Given the description of an element on the screen output the (x, y) to click on. 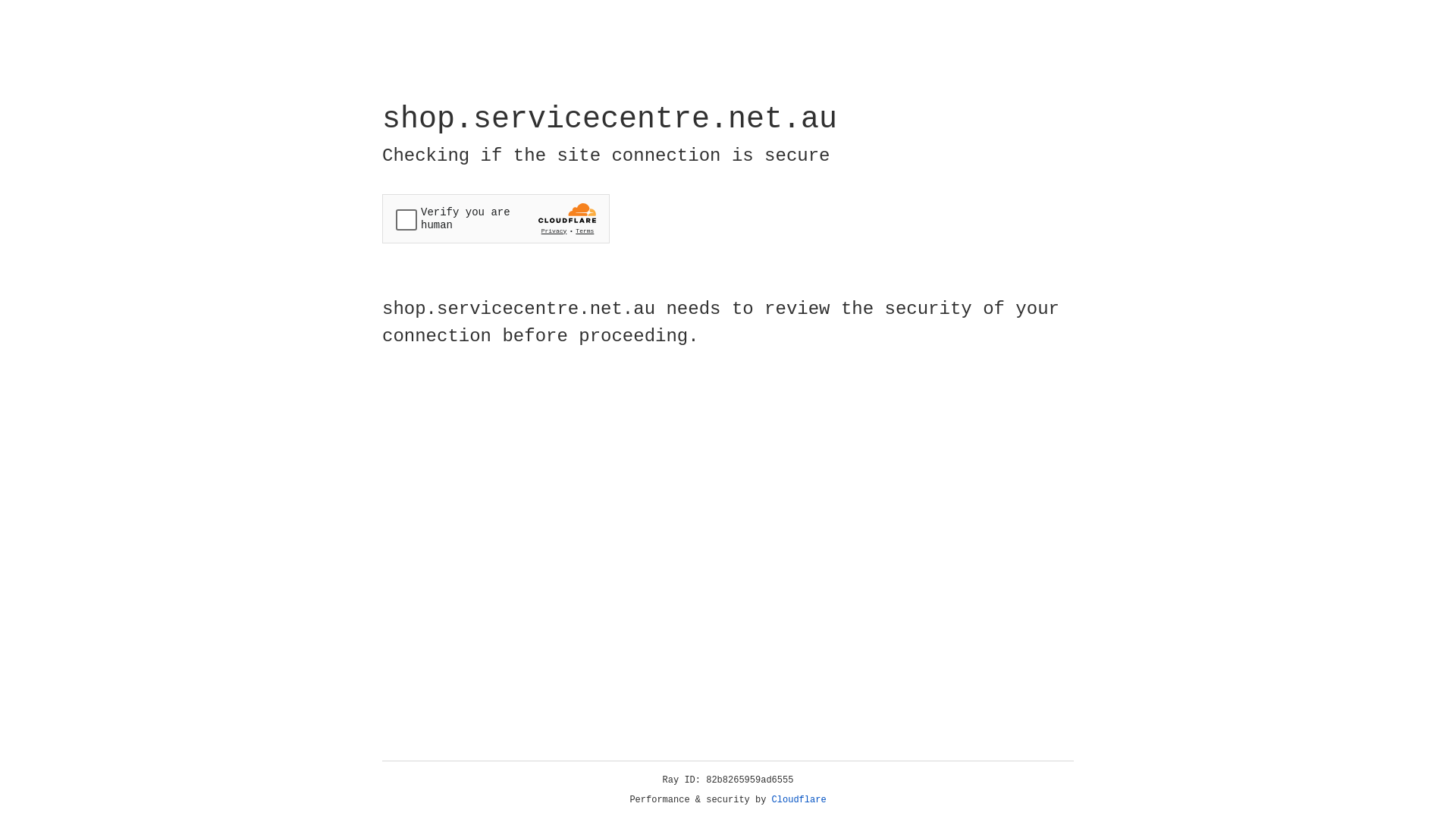
Cloudflare Element type: text (798, 799)
Widget containing a Cloudflare security challenge Element type: hover (495, 218)
